Given the description of an element on the screen output the (x, y) to click on. 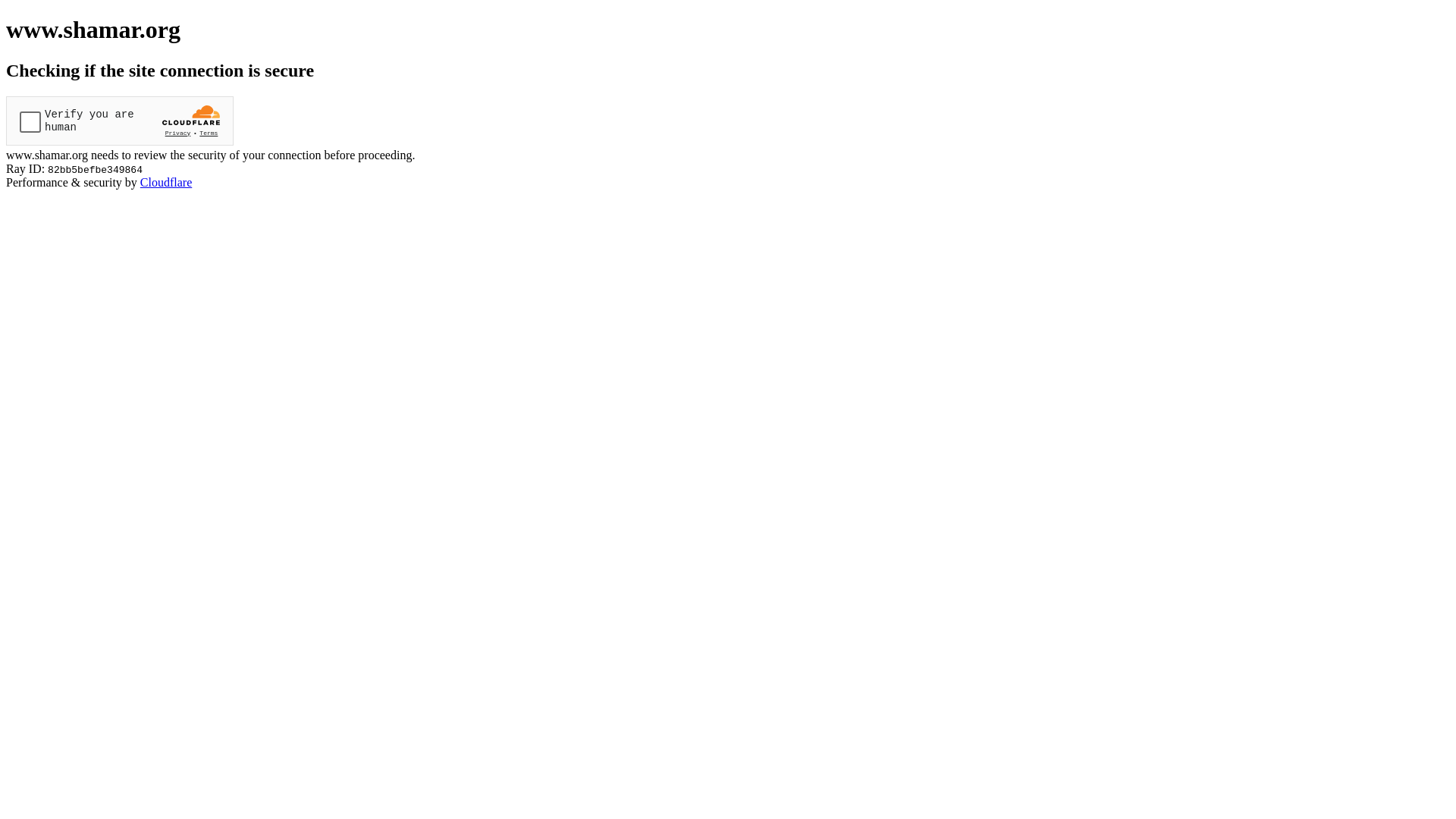
Cloudflare Element type: text (165, 181)
Widget containing a Cloudflare security challenge Element type: hover (119, 120)
